Given the description of an element on the screen output the (x, y) to click on. 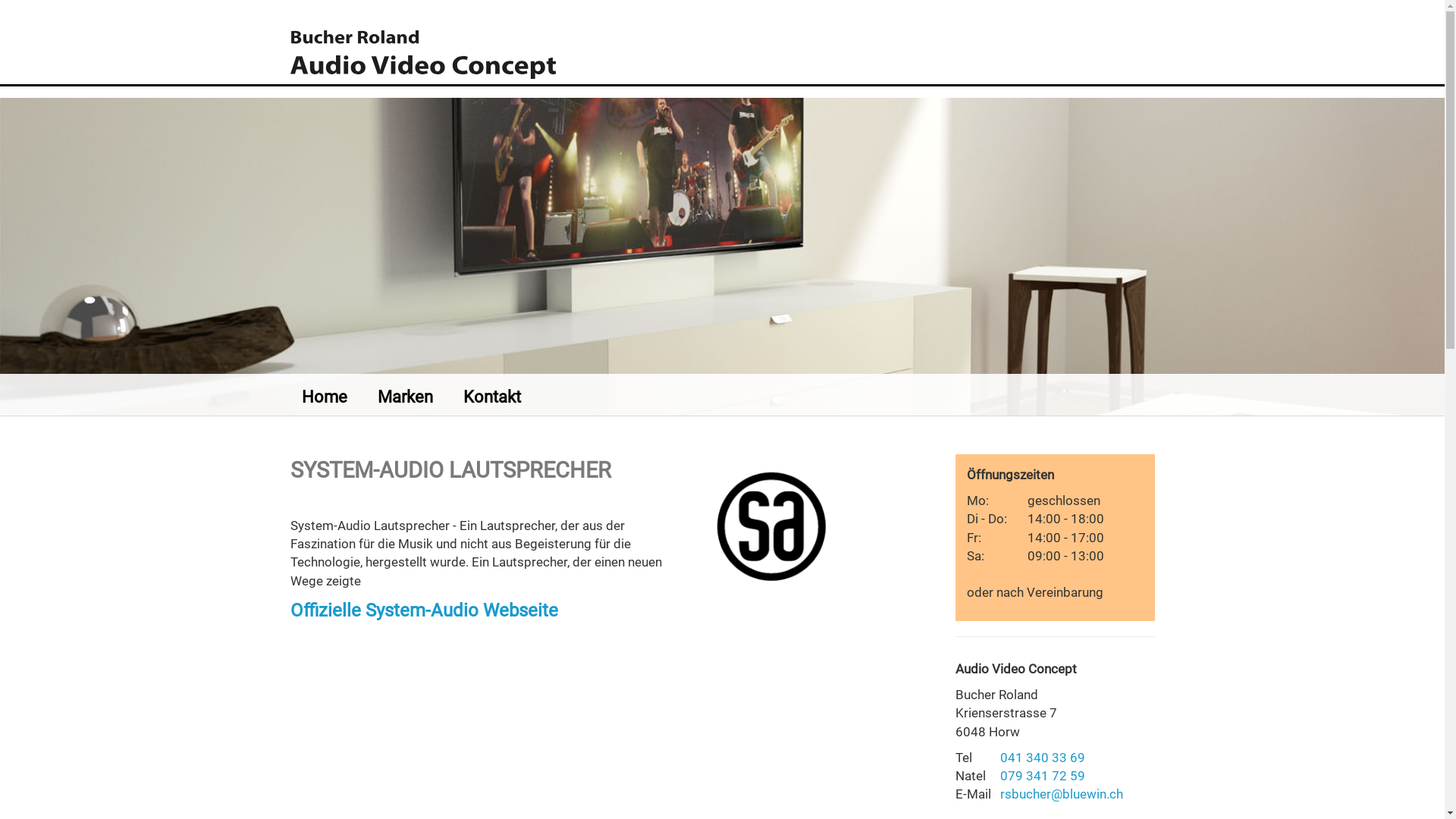
Marken Element type: text (420, 396)
Kontakt Element type: text (506, 396)
Offizielle System-Audio Webseite Element type: text (423, 610)
041 340 33 69 Element type: text (1042, 757)
rsbucher@bluewin.ch Element type: text (1061, 793)
Home Element type: text (339, 396)
079 341 72 59 Element type: text (1042, 775)
